Given the description of an element on the screen output the (x, y) to click on. 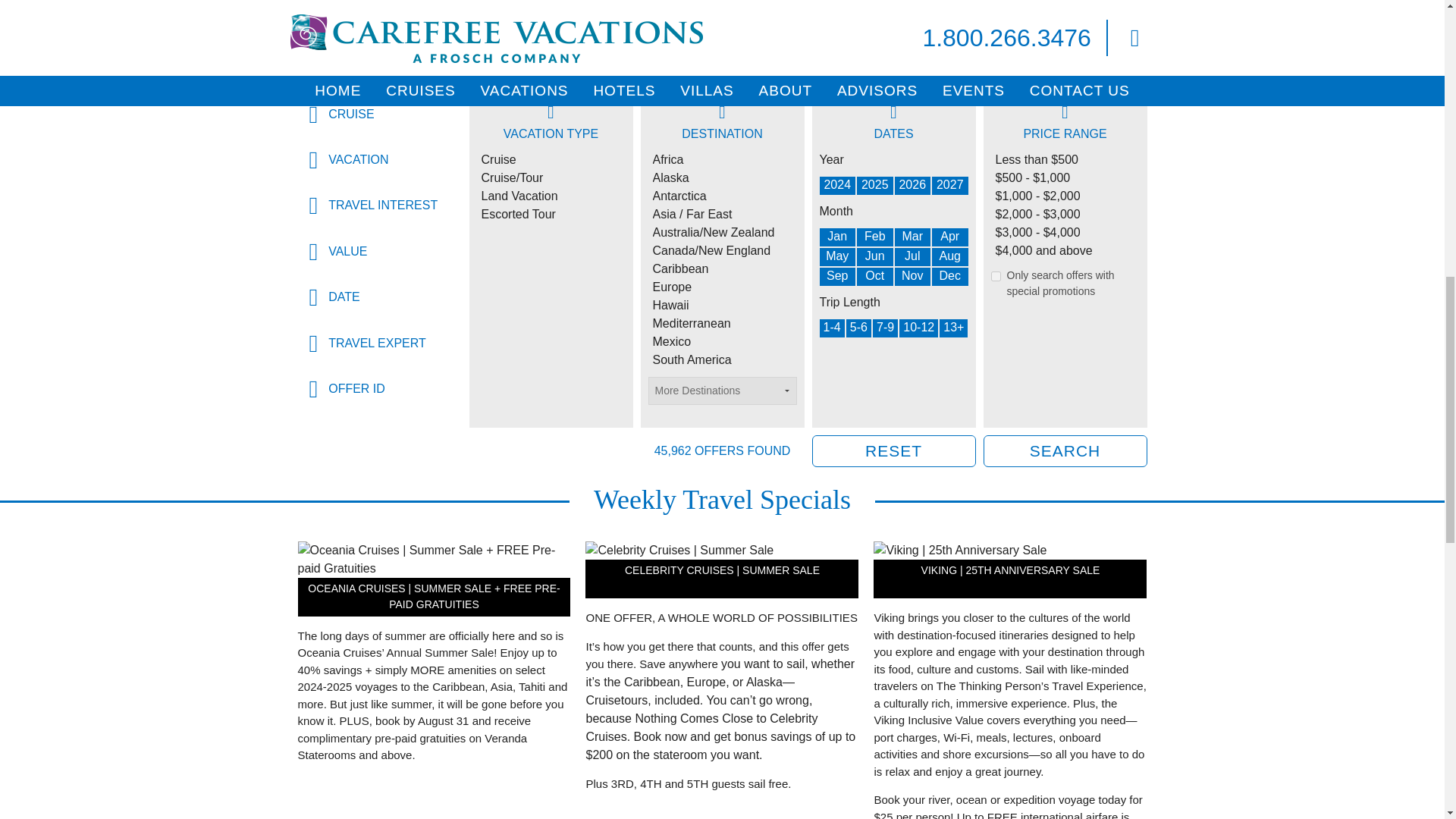
Land Vacation (550, 196)
Caribbean (722, 269)
TRAVEL INTEREST (379, 205)
DATE (379, 297)
CRUISE (379, 114)
OFFER ID (379, 388)
UNLOCK MORE GREAT DEALS (938, 19)
Hawaii (722, 305)
Alaska (722, 177)
VACATION (379, 159)
Mexico (722, 341)
Mediterranean (722, 323)
Europe (722, 287)
1 (995, 276)
VALUE (379, 251)
